Given the description of an element on the screen output the (x, y) to click on. 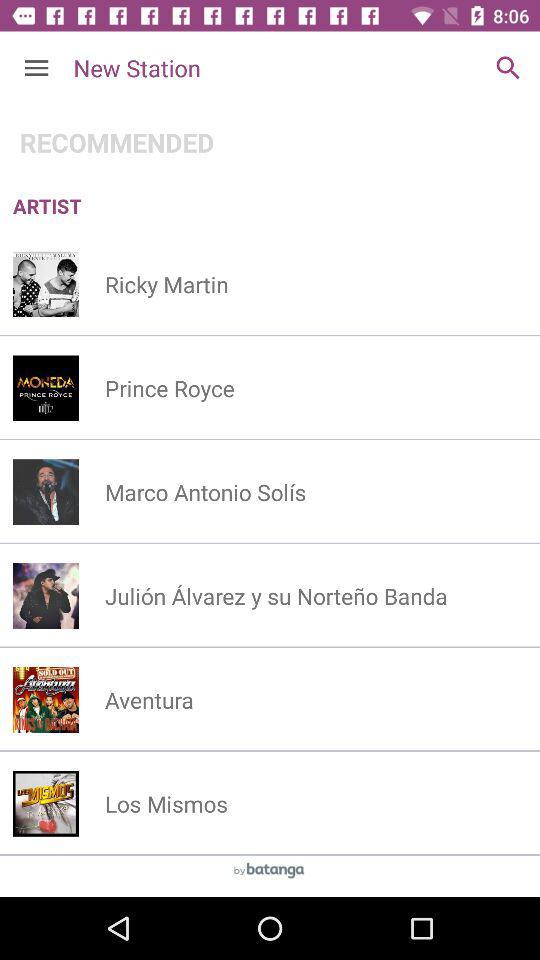
tap icon next to the new station (508, 67)
